Given the description of an element on the screen output the (x, y) to click on. 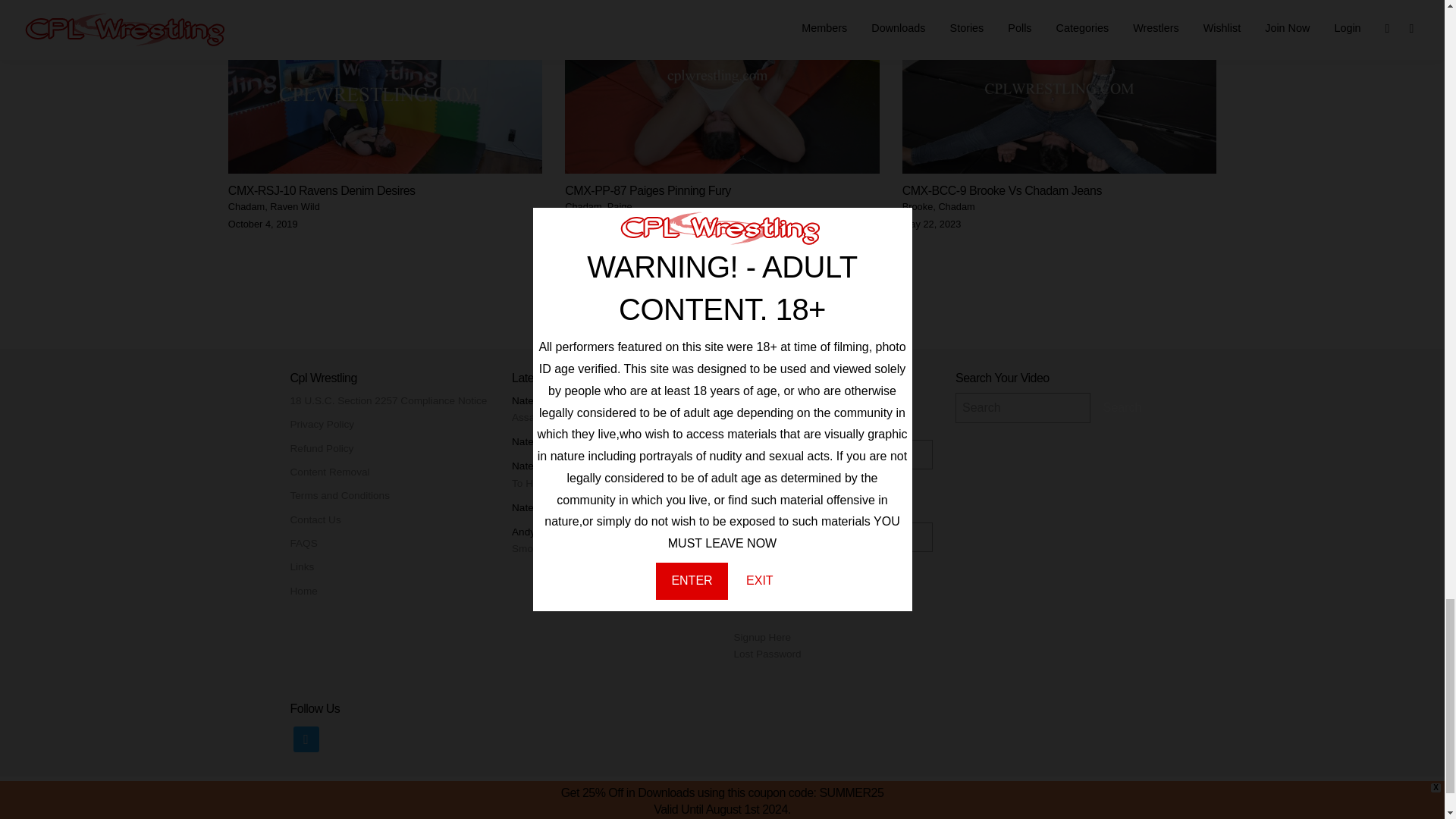
Search (1122, 408)
Login (758, 583)
Twitter (305, 738)
